Given the description of an element on the screen output the (x, y) to click on. 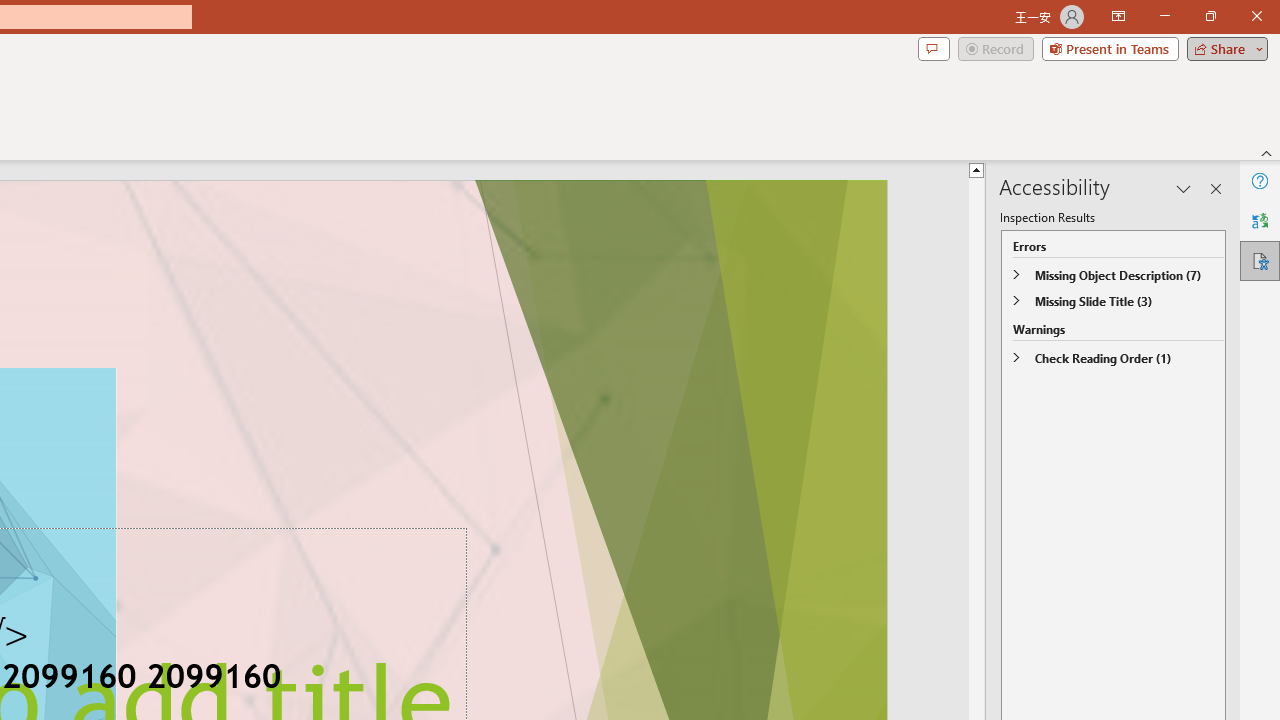
Close pane (1215, 188)
Accessibility (1260, 260)
Record (995, 48)
Share (1223, 48)
Present in Teams (1109, 48)
Line up (976, 169)
Comments (933, 48)
Help (1260, 180)
Translator (1260, 220)
Collapse the Ribbon (1267, 152)
Task Pane Options (1183, 188)
Ribbon Display Options (1118, 16)
Minimize (1164, 16)
Restore Down (1210, 16)
